Given the description of an element on the screen output the (x, y) to click on. 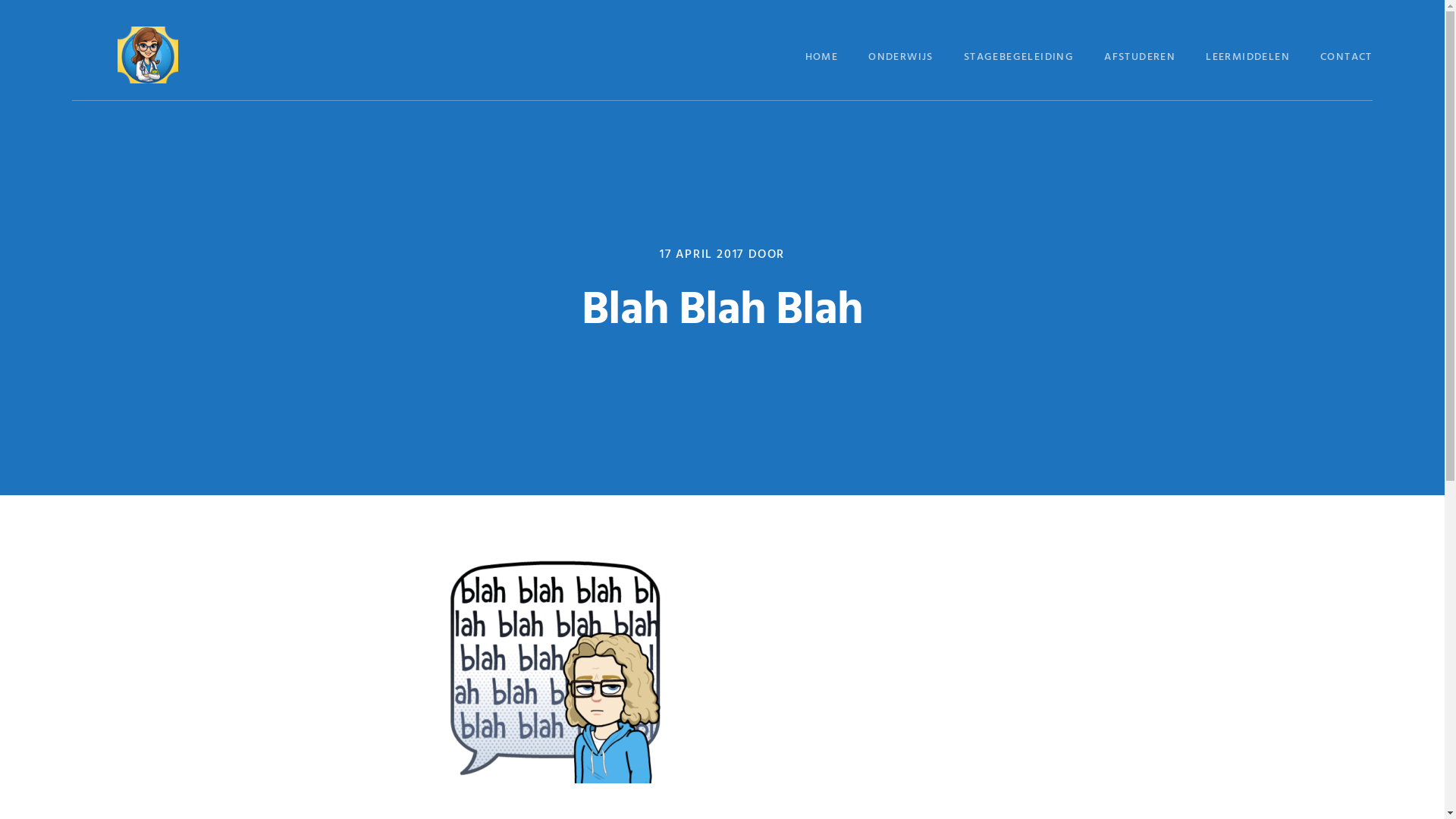
STAGEBEGELEIDING Element type: text (1018, 57)
ONDERWIJS Element type: text (900, 57)
LEERMIDDELEN Element type: text (1247, 57)
Spring naar de hoofdnavigatie Element type: text (0, 0)
HOME Element type: text (821, 57)
De Zorgdocent Element type: text (147, 54)
AFSTUDEREN Element type: text (1139, 57)
CONTACT Element type: text (1346, 57)
